Given the description of an element on the screen output the (x, y) to click on. 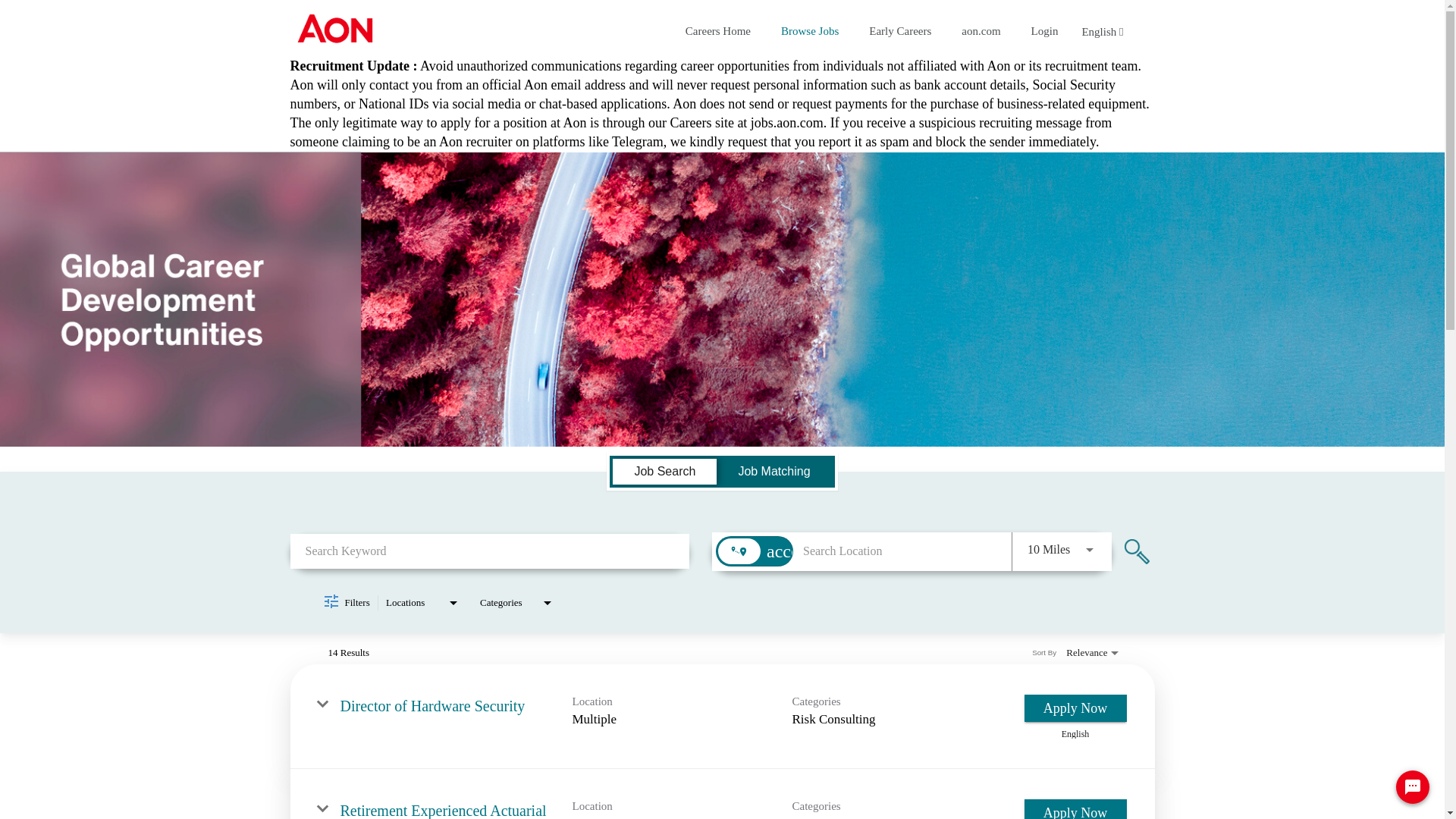
Browse Jobs (809, 30)
Apply Now (1074, 809)
Login (1044, 30)
aon.com (980, 30)
Director of Hardware Security (431, 705)
search (1136, 551)
Careers Home (718, 30)
Early Careers (900, 30)
Job Matching (773, 471)
Retirement Experienced Actuarial Associate (442, 810)
English (1102, 31)
Job Search (664, 471)
Apply Now (1074, 707)
